Given the description of an element on the screen output the (x, y) to click on. 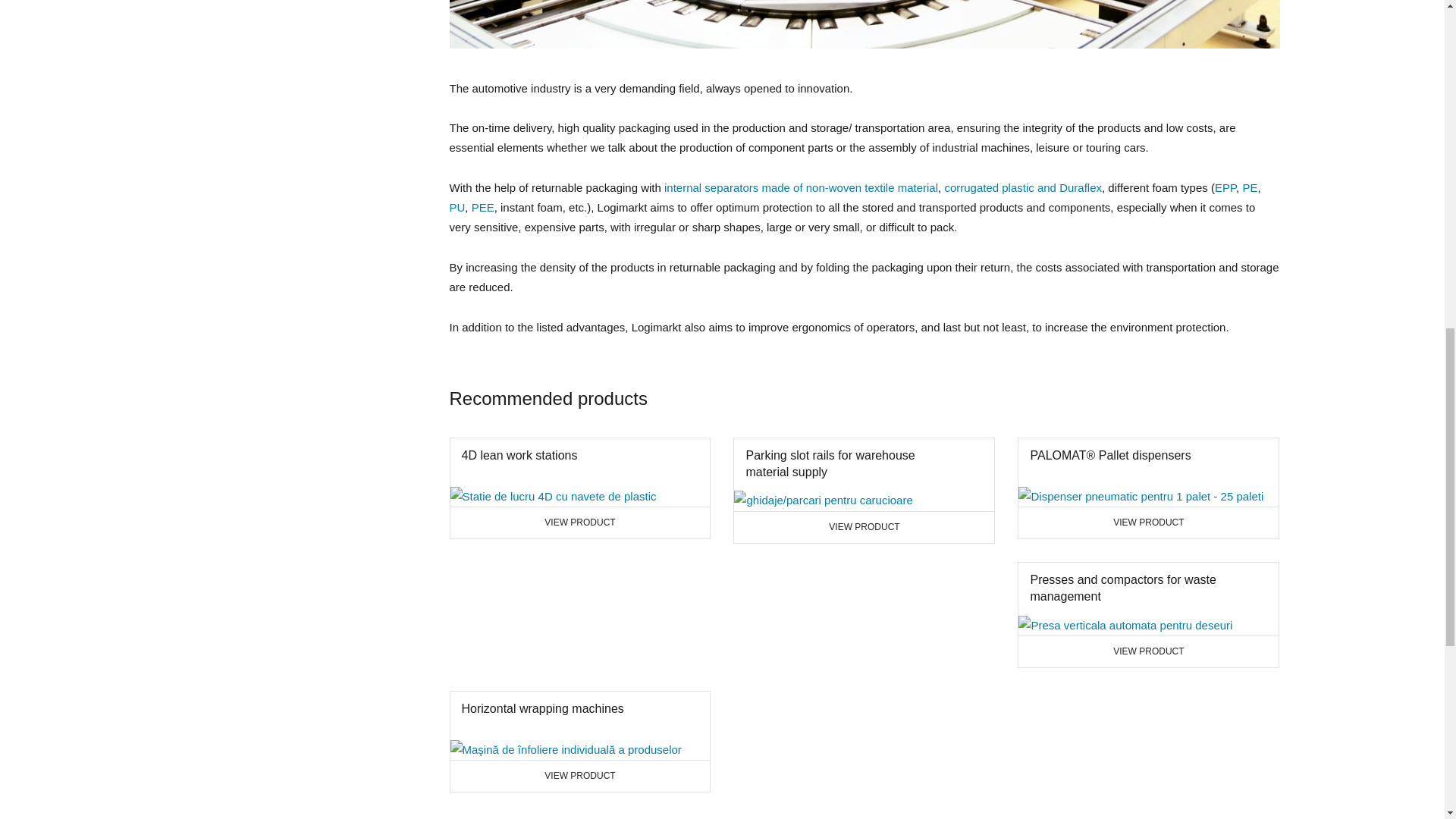
PEE (483, 206)
Presa verticala automata pentru deseuri (1147, 804)
Statie de lucru 4D cu navete de plastic (579, 583)
EPP (1225, 187)
corrugated plastic and Duraflex (1022, 187)
PU (456, 206)
PE (579, 575)
Ghidaje pentru carucioare (1249, 187)
internal separators made of non-woven textile material (863, 587)
